Given the description of an element on the screen output the (x, y) to click on. 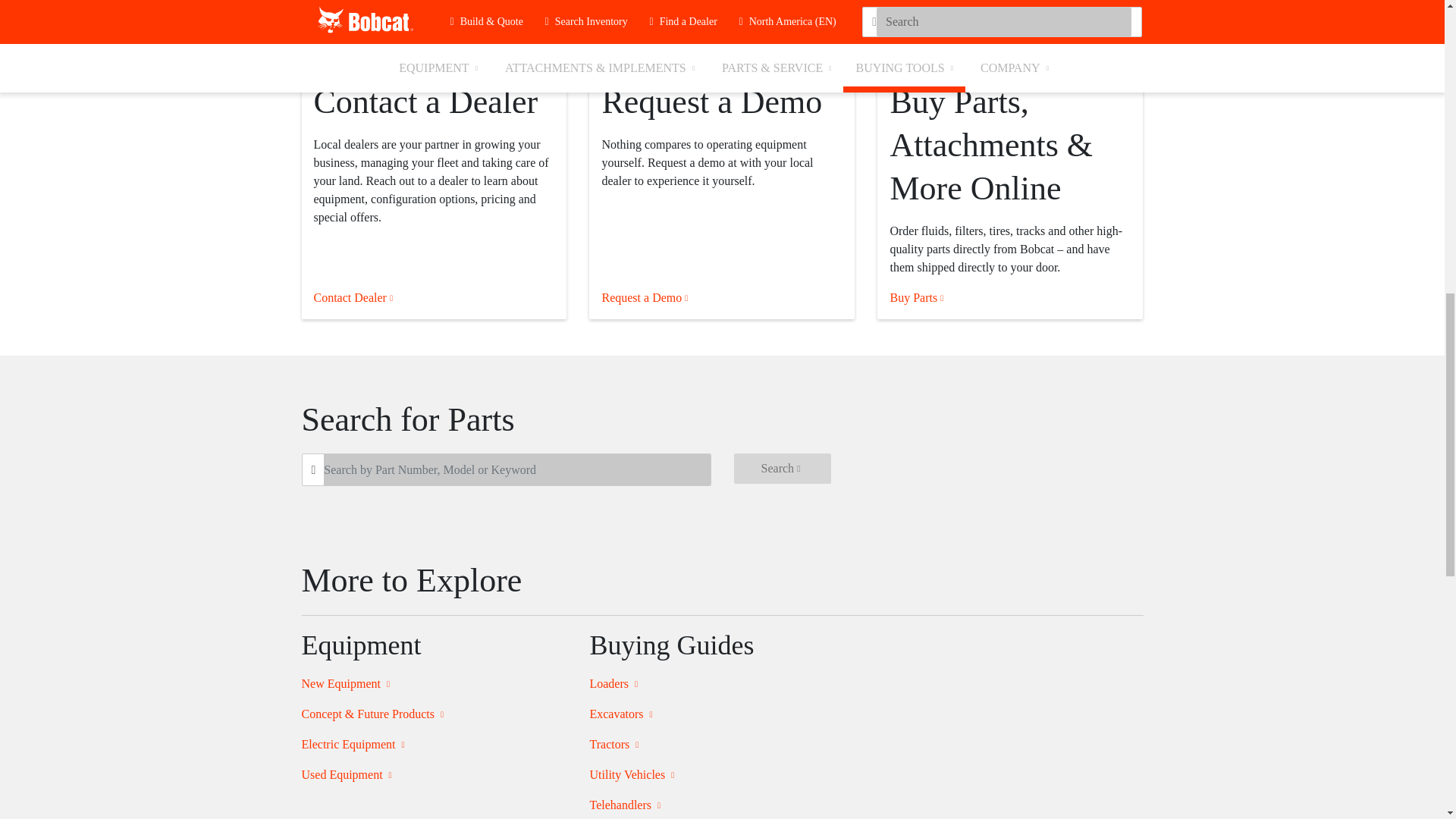
Contact A Dealer Icon (434, 33)
Request A Demo Icon (721, 33)
